Given the description of an element on the screen output the (x, y) to click on. 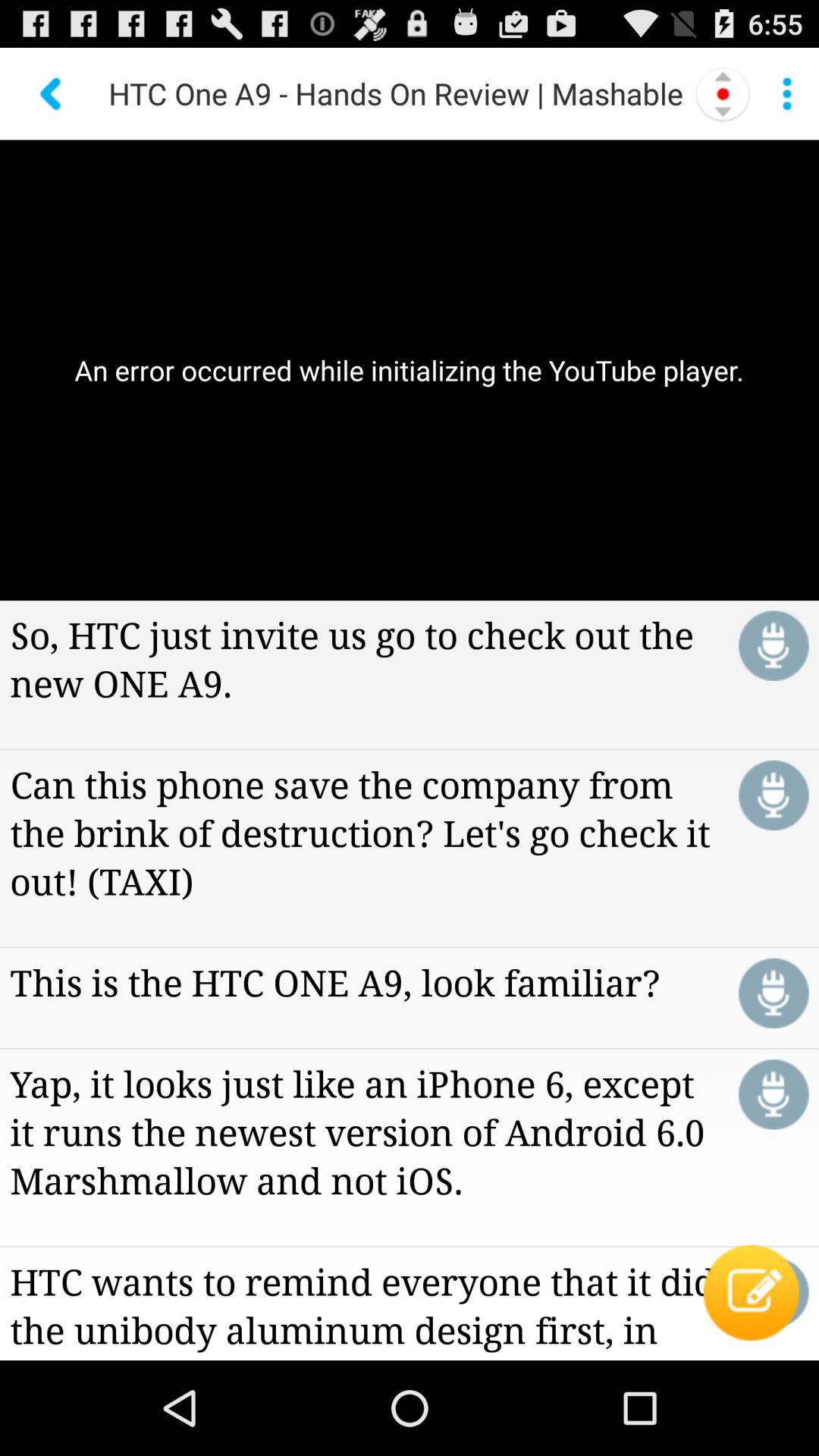
select microphone (773, 795)
